Given the description of an element on the screen output the (x, y) to click on. 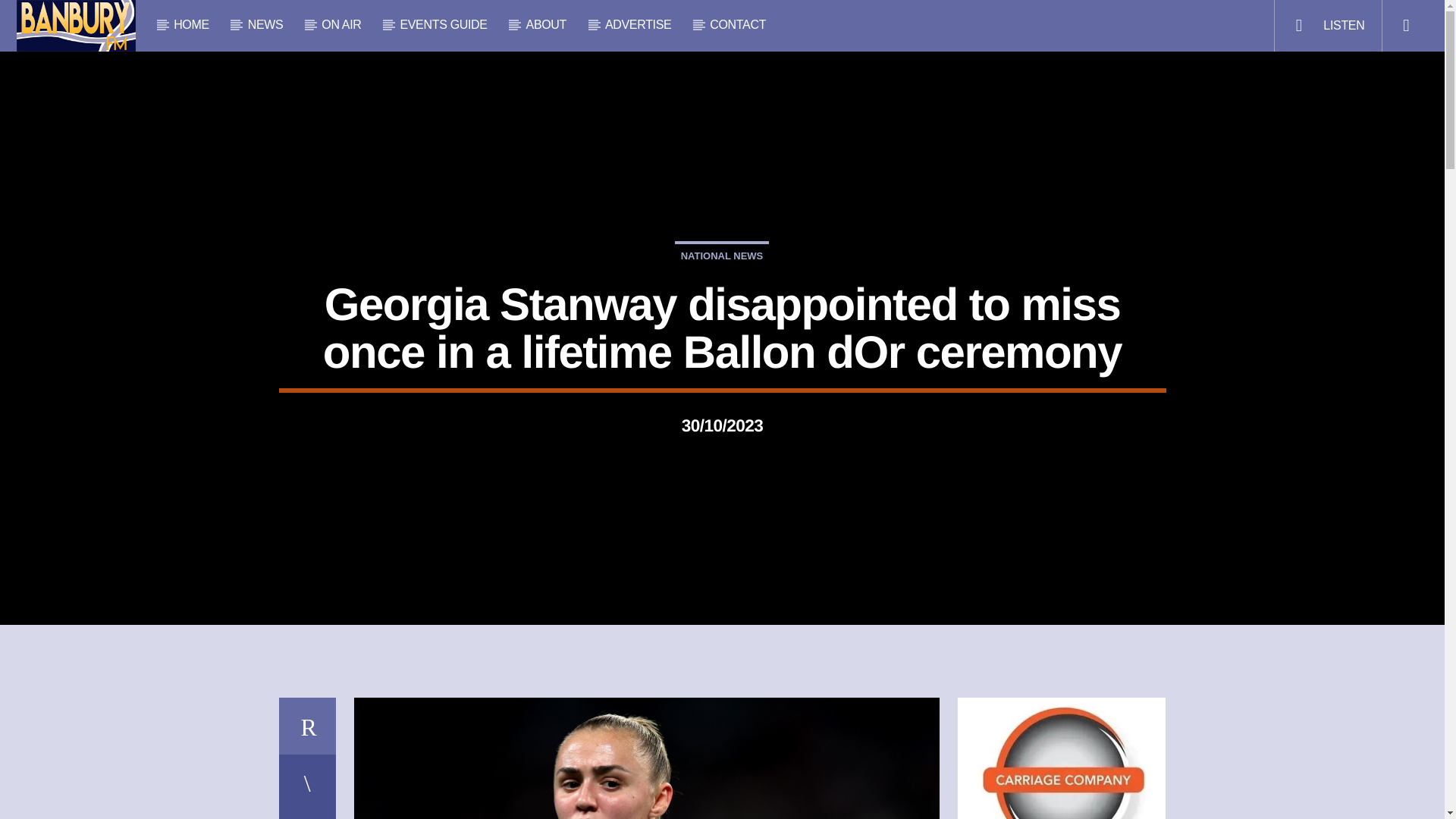
LISTEN (1327, 25)
ON AIR (341, 24)
EVENTS GUIDE (442, 24)
NEWS (264, 24)
HOME (192, 24)
CONTACT (738, 24)
ABOUT (545, 24)
ADVERTISE (638, 24)
